Given the description of an element on the screen output the (x, y) to click on. 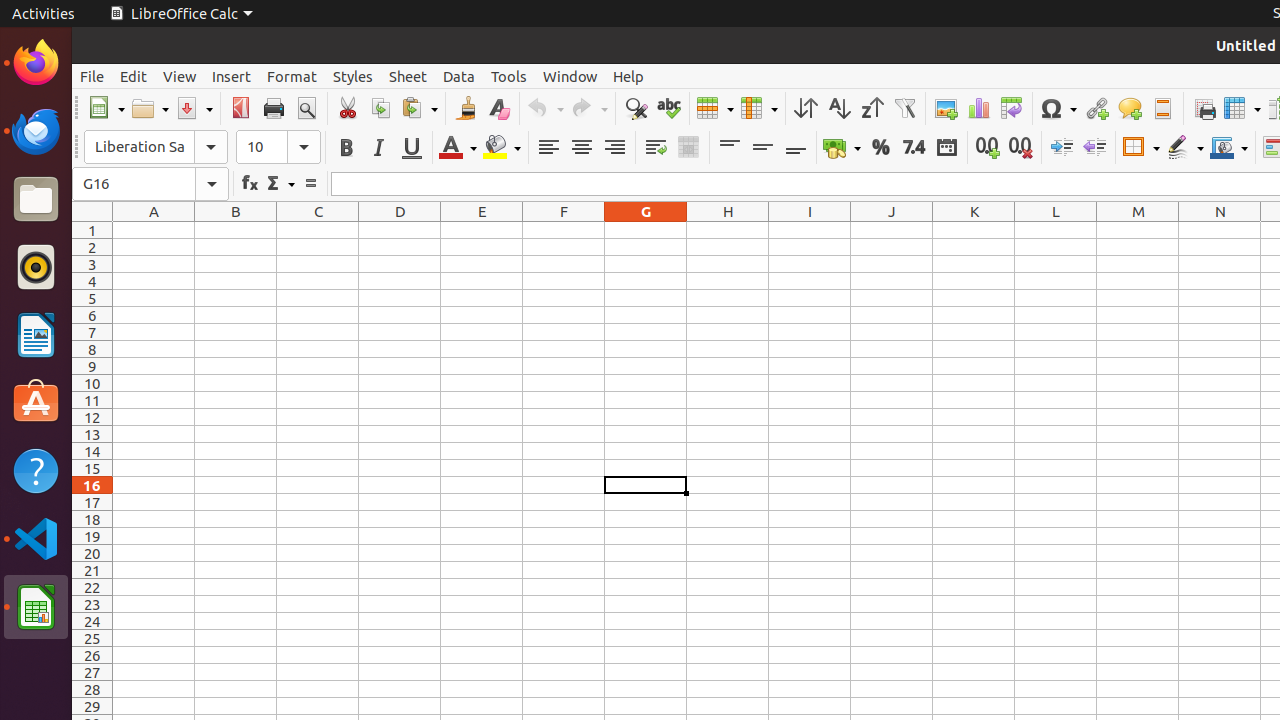
LibreOffice Calc Element type: push-button (36, 607)
Column Element type: push-button (759, 108)
Files Element type: push-button (36, 199)
Align Right Element type: push-button (614, 147)
